Given the description of an element on the screen output the (x, y) to click on. 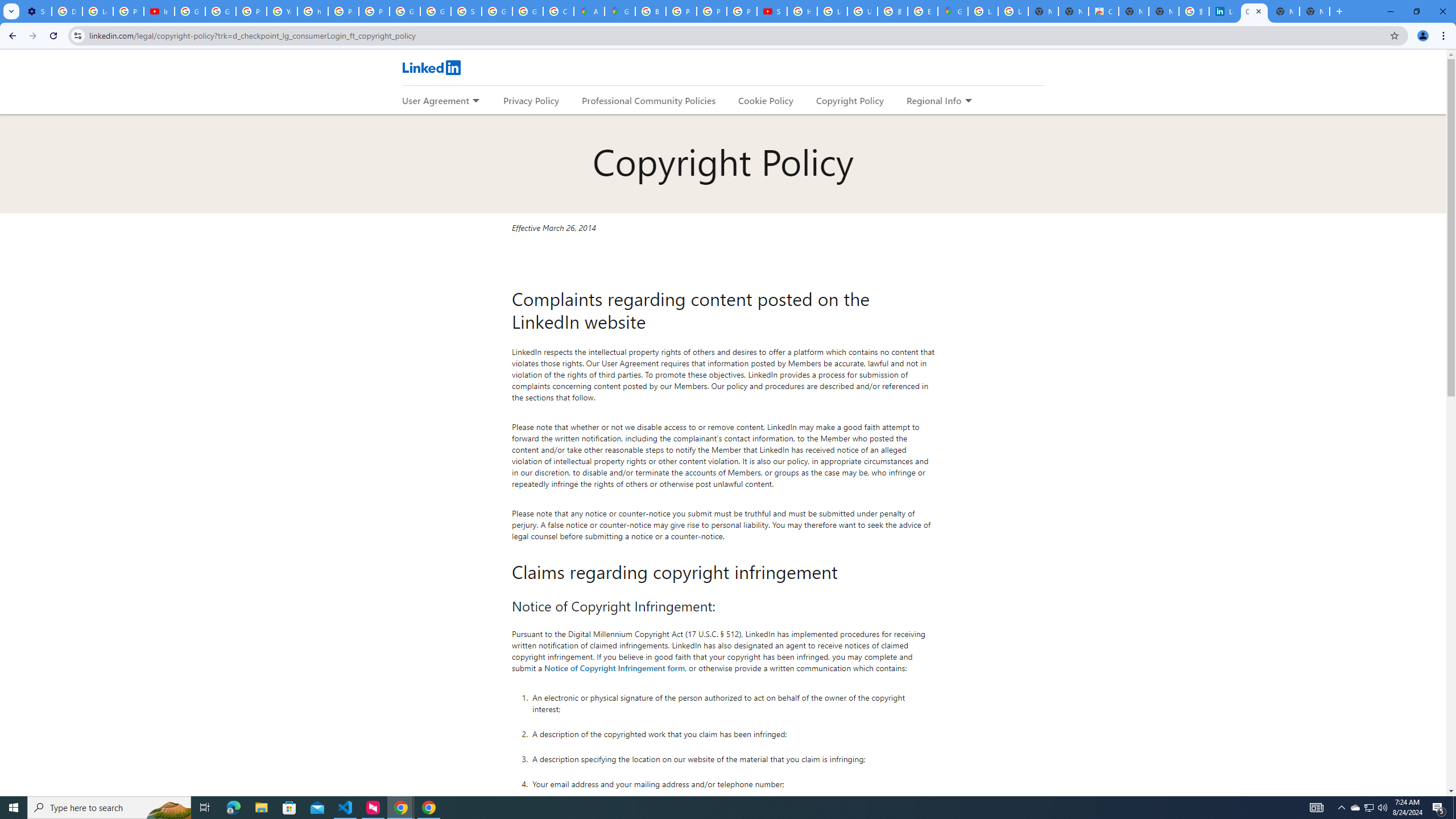
Notice of Copyright Infringement form (614, 667)
Sign in - Google Accounts (465, 11)
Create your Google Account (558, 11)
User Agreement (434, 100)
Delete photos & videos - Computer - Google Photos Help (66, 11)
